Given the description of an element on the screen output the (x, y) to click on. 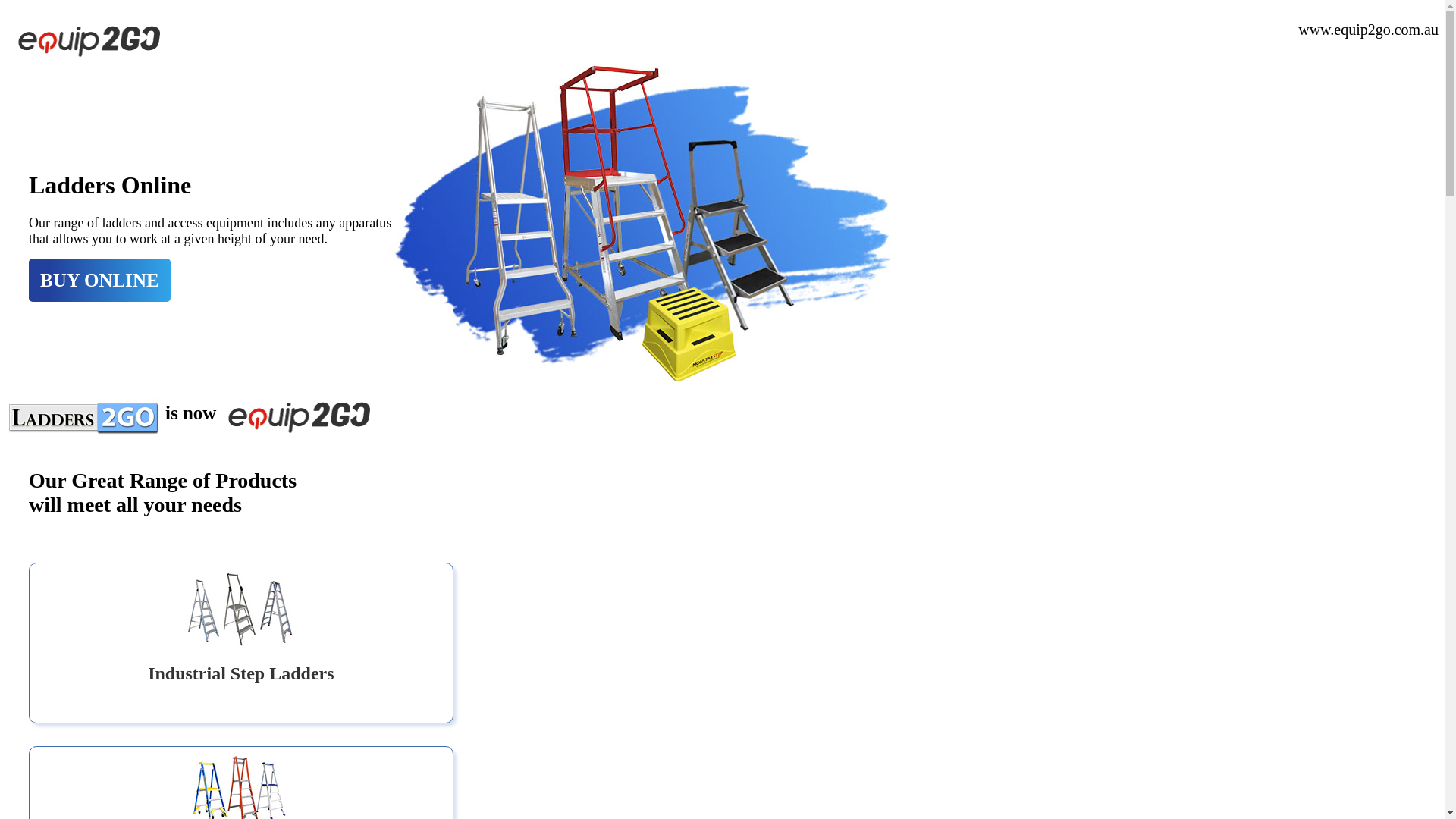
Ladders2GO Logo Element type: hover (85, 416)
Industrial Ladders Element type: hover (642, 222)
equip2go Logo Element type: hover (297, 416)
Step Ladders Element type: hover (240, 609)
equip2go Logo Element type: hover (87, 40)
BUY ONLINE Element type: text (99, 279)
www.equip2go.com.au Element type: text (1368, 29)
Industrial Step Ladders Element type: text (240, 673)
